Given the description of an element on the screen output the (x, y) to click on. 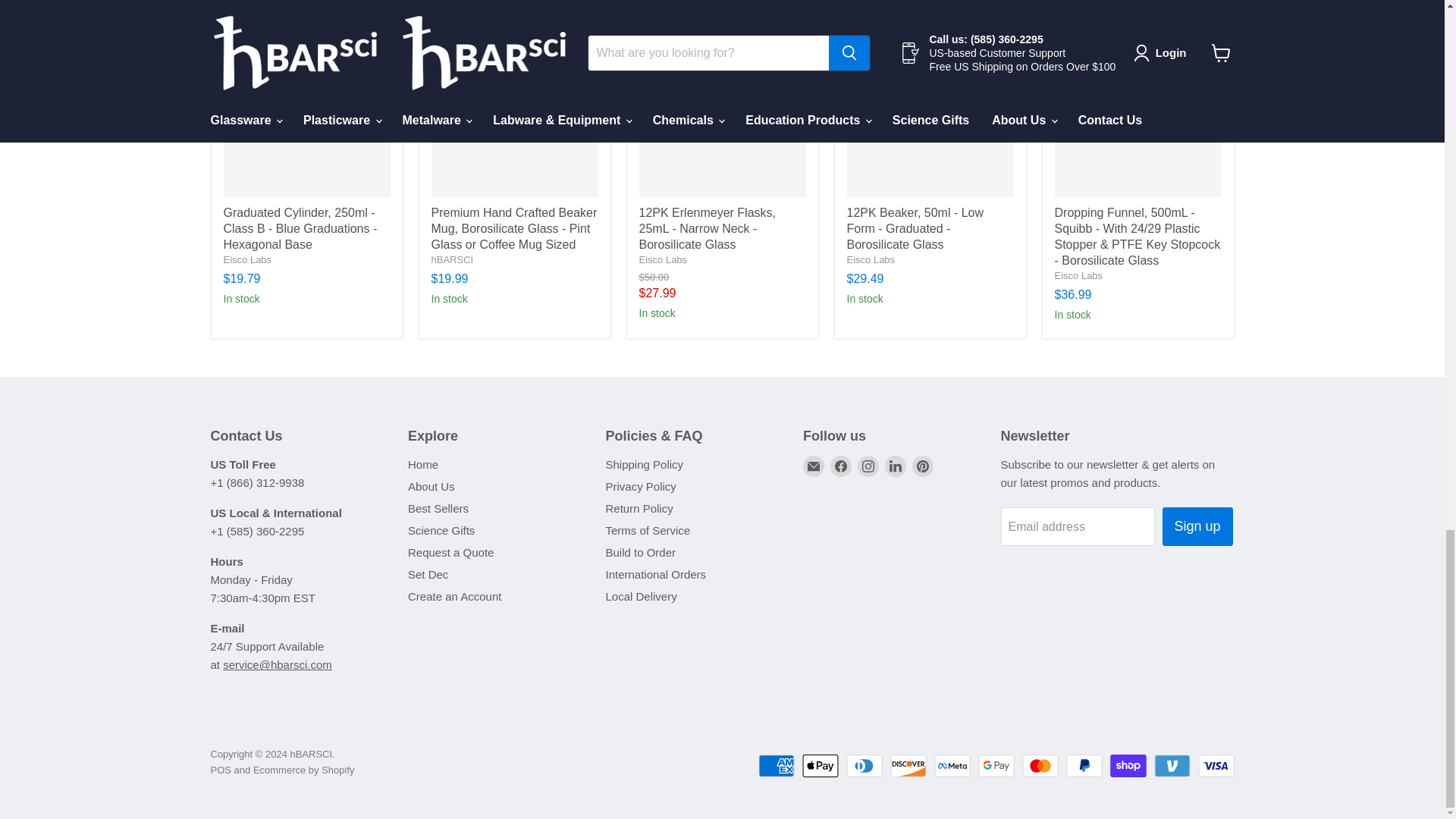
Eisco Labs (663, 259)
hBARSCI (451, 259)
Eisco Labs (246, 259)
Eisco Labs (870, 259)
